Given the description of an element on the screen output the (x, y) to click on. 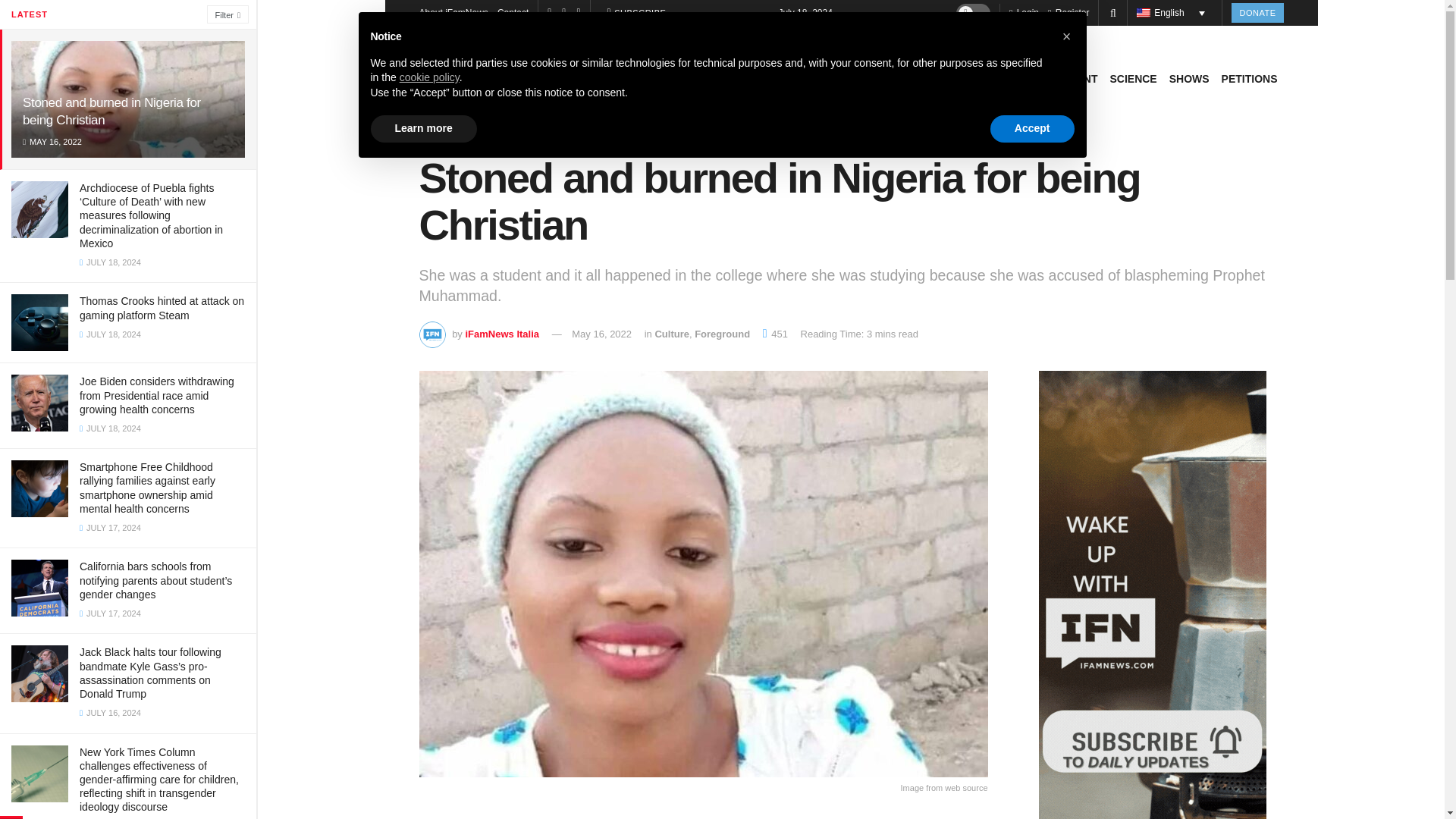
English (1174, 13)
Filter (227, 13)
Contact (512, 12)
Stoned and burned in Nigeria for being Christian (111, 111)
SUBSCRIBE (636, 12)
Thomas Crooks hinted at attack on gaming platform Steam (162, 307)
Login (1024, 12)
Register (1068, 12)
About iFamNews (453, 12)
